Given the description of an element on the screen output the (x, y) to click on. 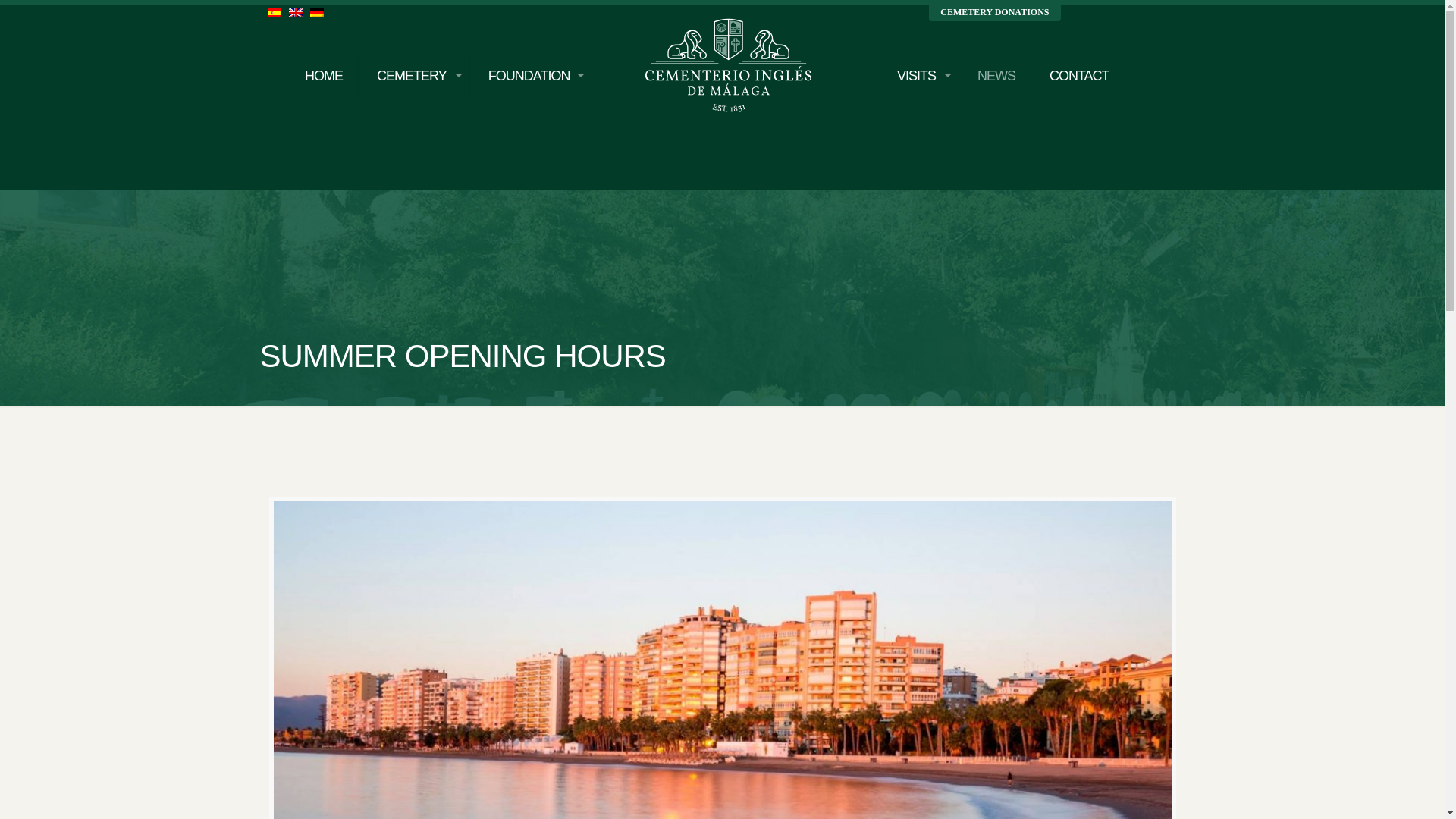
CEMETERY DONATIONS (993, 12)
FOUNDATION (532, 56)
CEMETERY (415, 56)
